Given the description of an element on the screen output the (x, y) to click on. 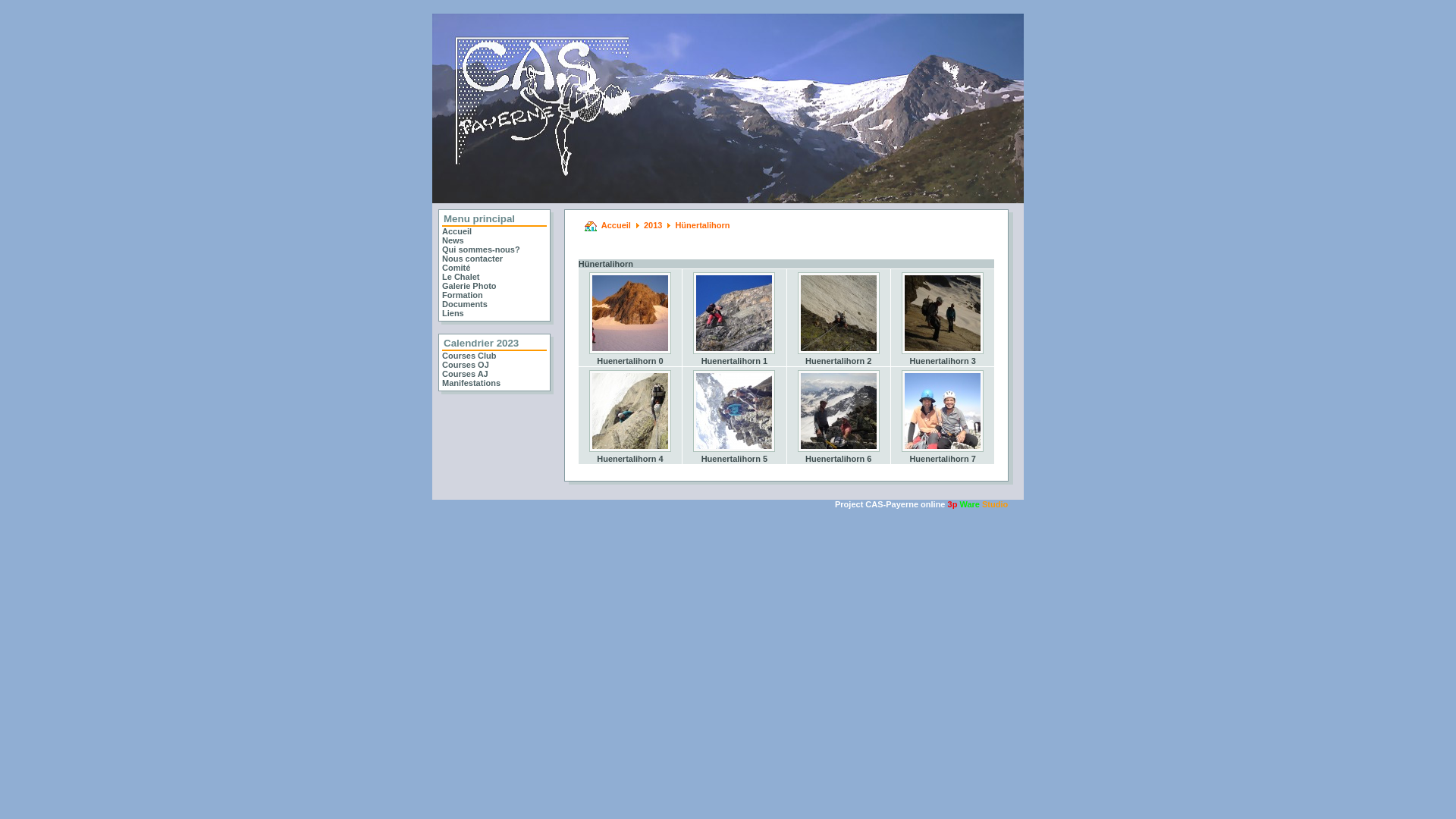
Huenertalihorn 2 Element type: hover (838, 313)
Huenertalihorn 4 Element type: text (629, 454)
Courses OJ Element type: text (465, 364)
Huenertalihorn 1 Element type: hover (734, 313)
Nous contacter Element type: text (472, 258)
Manifestations Element type: text (471, 382)
Huenertalihorn 4 Element type: hover (630, 410)
Huenertalihorn 0 Element type: hover (630, 313)
Documents Element type: text (464, 303)
Le Chalet Element type: text (461, 276)
Huenertalihorn 0 Element type: text (629, 356)
Huenertalihorn 7 Element type: text (942, 454)
Huenertalihorn 3 Element type: hover (942, 313)
Huenertalihorn 6 Element type: hover (838, 410)
Huenertalihorn 6 Element type: text (838, 454)
Courses AJ Element type: text (465, 373)
Liens Element type: text (453, 312)
Huenertalihorn 5 Element type: text (733, 454)
Courses Club Element type: text (469, 355)
Huenertalihorn 2 Element type: text (838, 356)
News Element type: text (453, 239)
Huenertalihorn 1 Element type: text (733, 356)
Galerie Photo Element type: text (469, 285)
Accueil Element type: text (456, 230)
Huenertalihorn 7 Element type: hover (942, 410)
2013 Element type: text (652, 224)
Formation Element type: text (462, 294)
Huenertalihorn 5 Element type: hover (734, 410)
Qui sommes-nous? Element type: text (481, 249)
Huenertalihorn 3 Element type: text (942, 356)
Accueil Element type: text (615, 224)
